Given the description of an element on the screen output the (x, y) to click on. 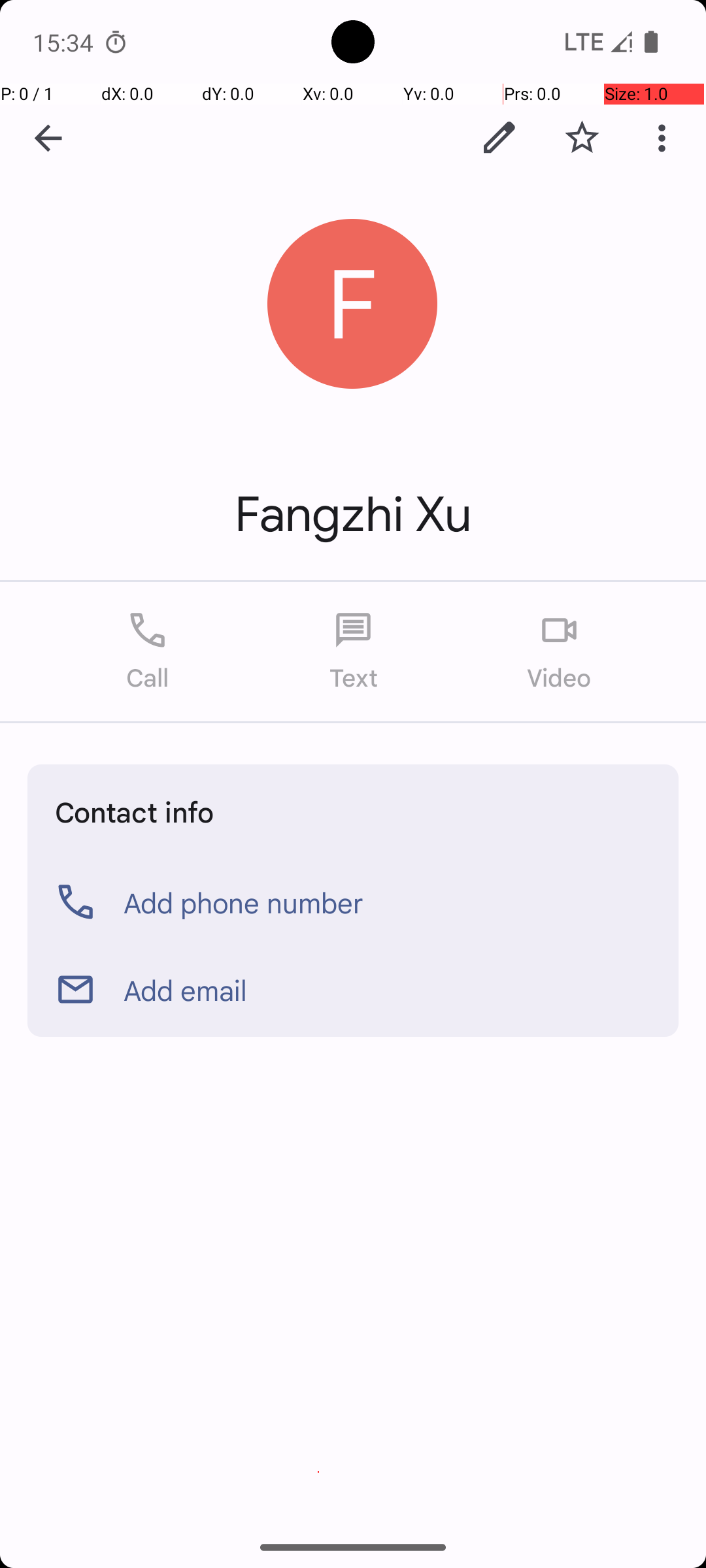
Edit contact Element type: android.widget.Button (498, 137)
Contact photo Element type: android.widget.ImageView (352, 303)
Text Element type: android.widget.TextView (353, 651)
Fangzhi Xu Element type: android.widget.TextView (352, 514)
Contact info Element type: android.widget.TextView (134, 811)
Add phone number Element type: android.widget.TextView (243, 901)
Add email Element type: android.widget.TextView (185, 989)
